Given the description of an element on the screen output the (x, y) to click on. 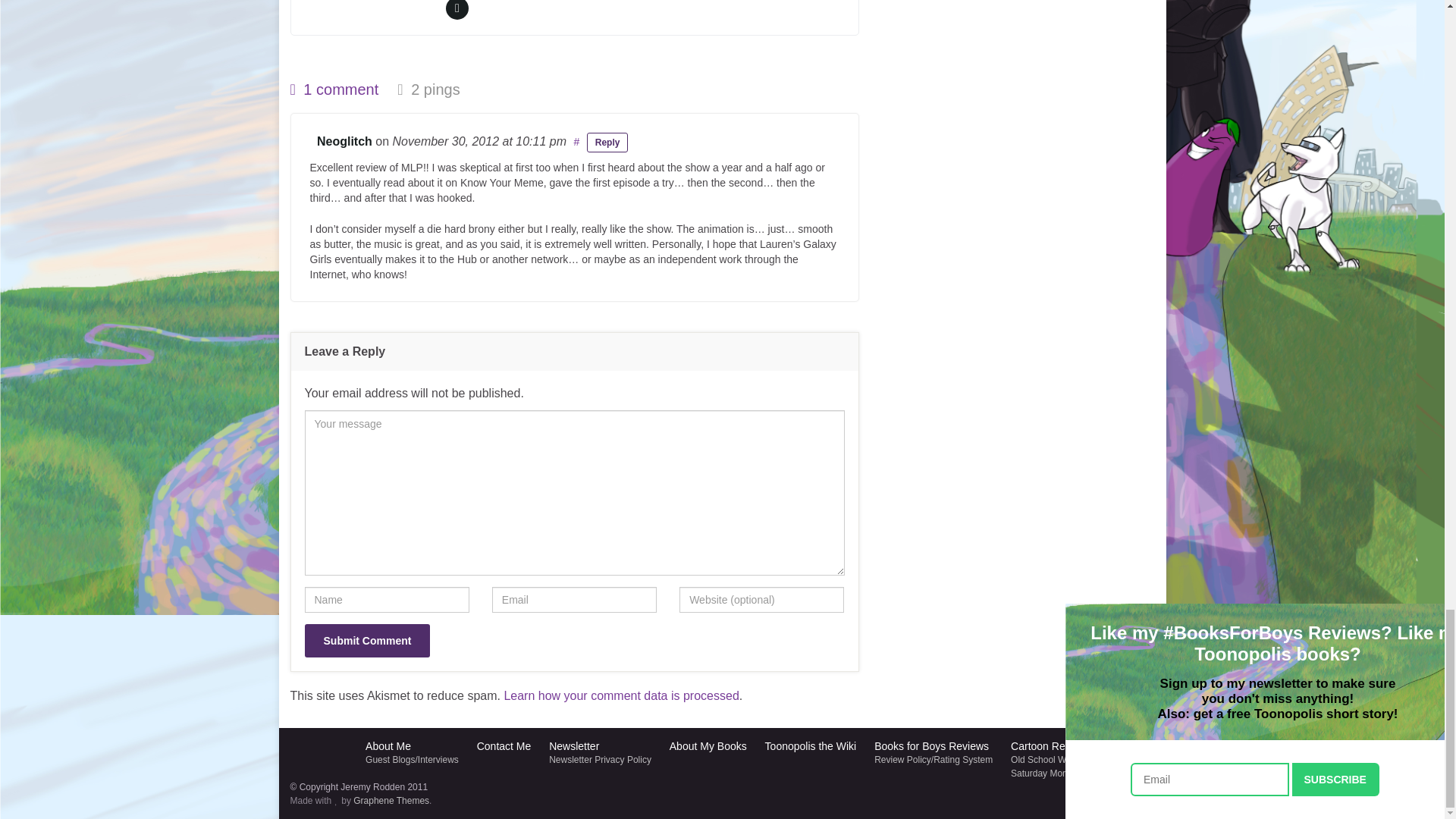
Submit Comment (367, 640)
